Given the description of an element on the screen output the (x, y) to click on. 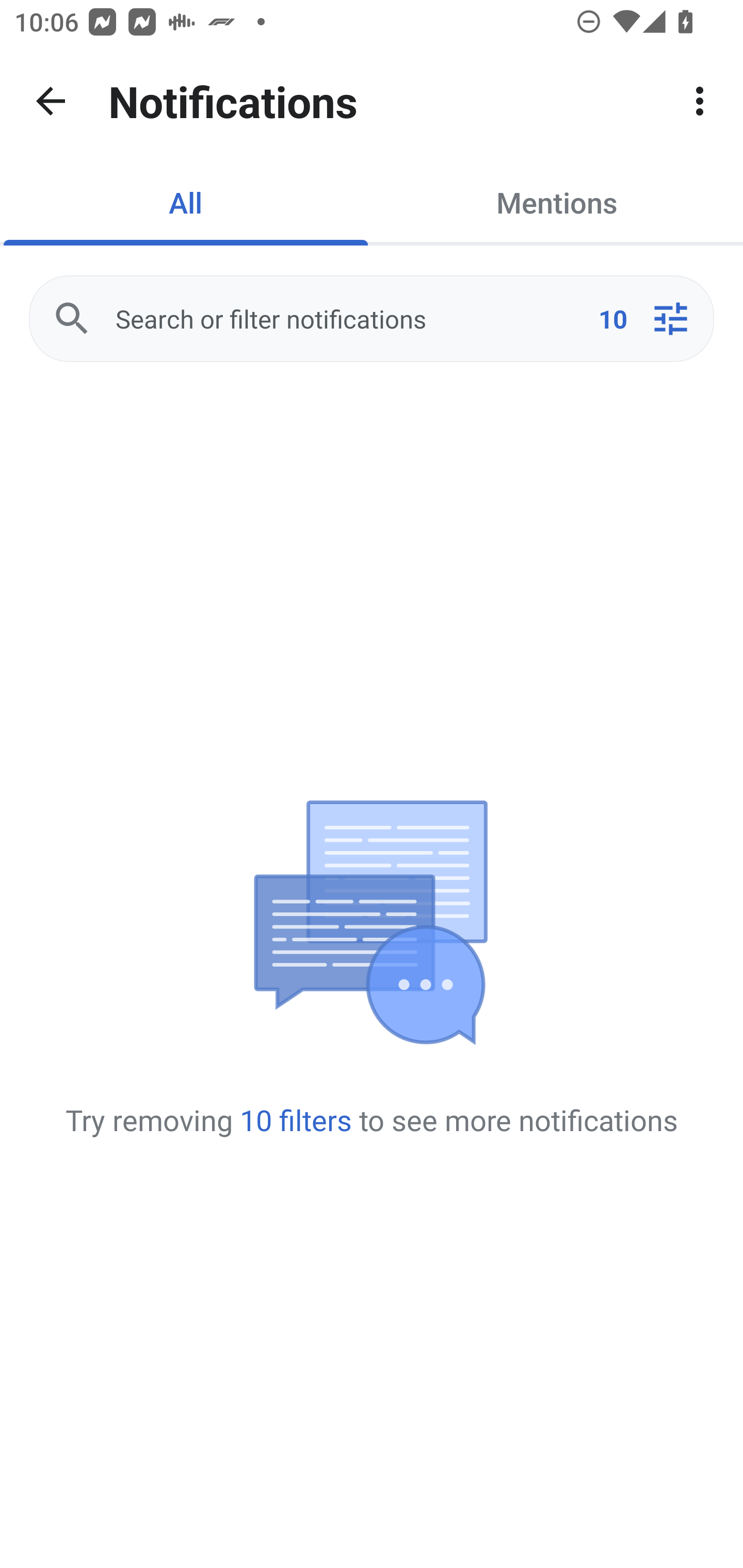
Navigate up (50, 101)
More (699, 101)
Mentions (557, 202)
Notification filter (670, 318)
